Given the description of an element on the screen output the (x, y) to click on. 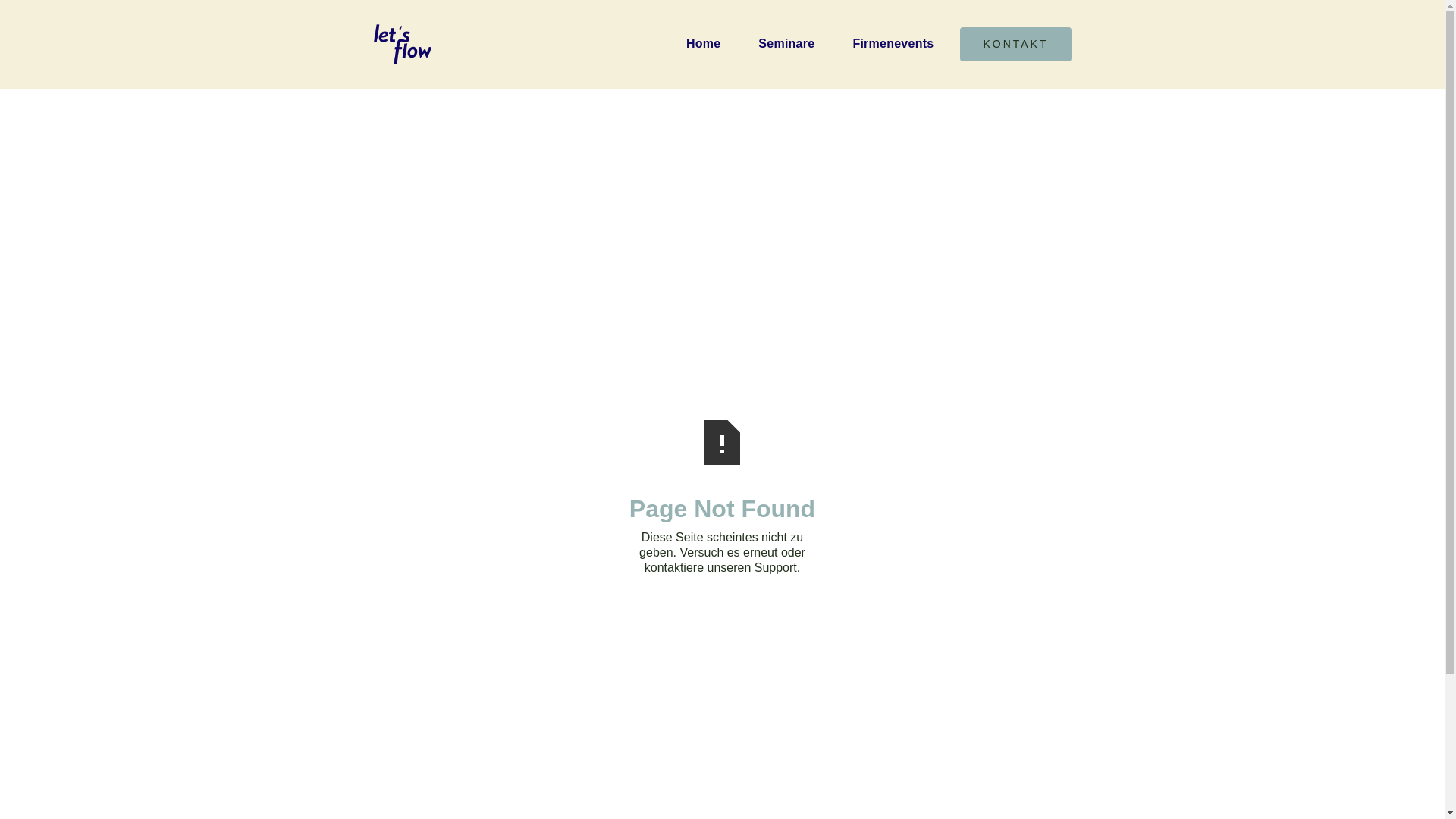
Seminare Element type: text (793, 43)
Home Element type: text (710, 43)
KONTAKT Element type: text (1015, 44)
Firmenevents Element type: text (900, 43)
